Given the description of an element on the screen output the (x, y) to click on. 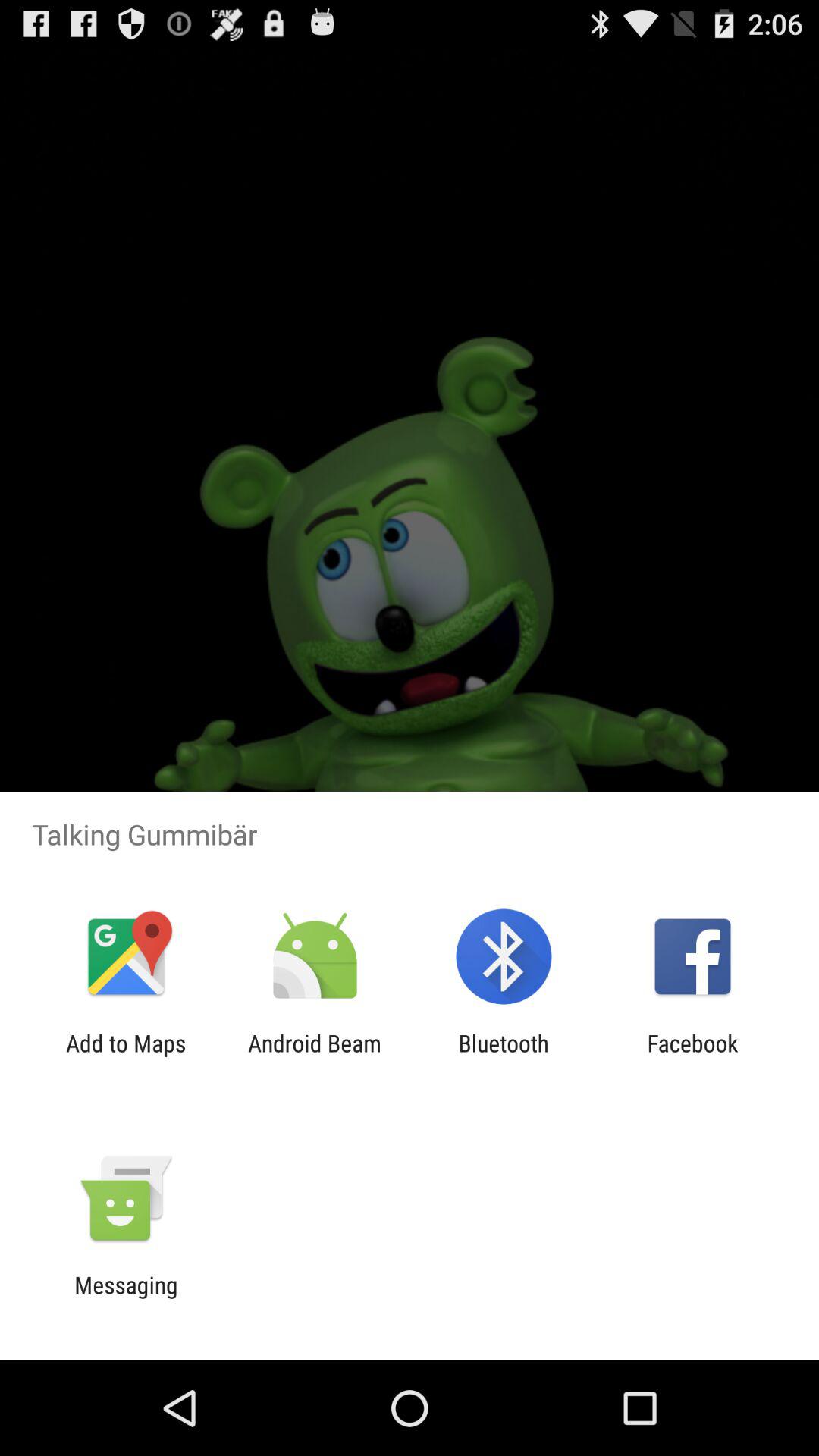
press the bluetooth icon (503, 1056)
